Given the description of an element on the screen output the (x, y) to click on. 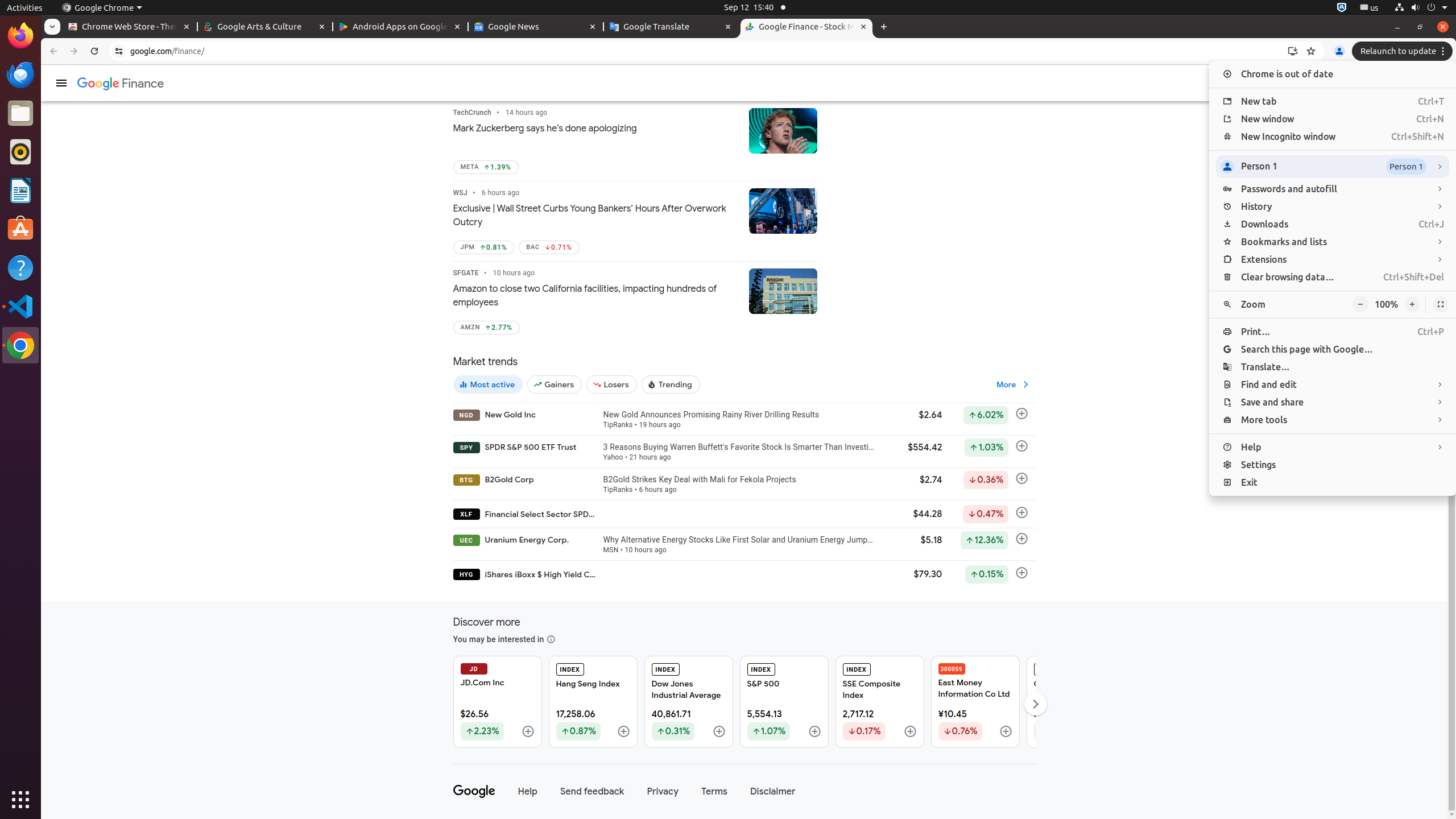
Help Element type: push-button (20, 267)
Ubuntu Software Element type: push-button (20, 229)
History Element type: menu-item (1332, 206)
Help Element type: menu-item (1332, 447)
Firefox Web Browser Element type: push-button (20, 35)
